Given the description of an element on the screen output the (x, y) to click on. 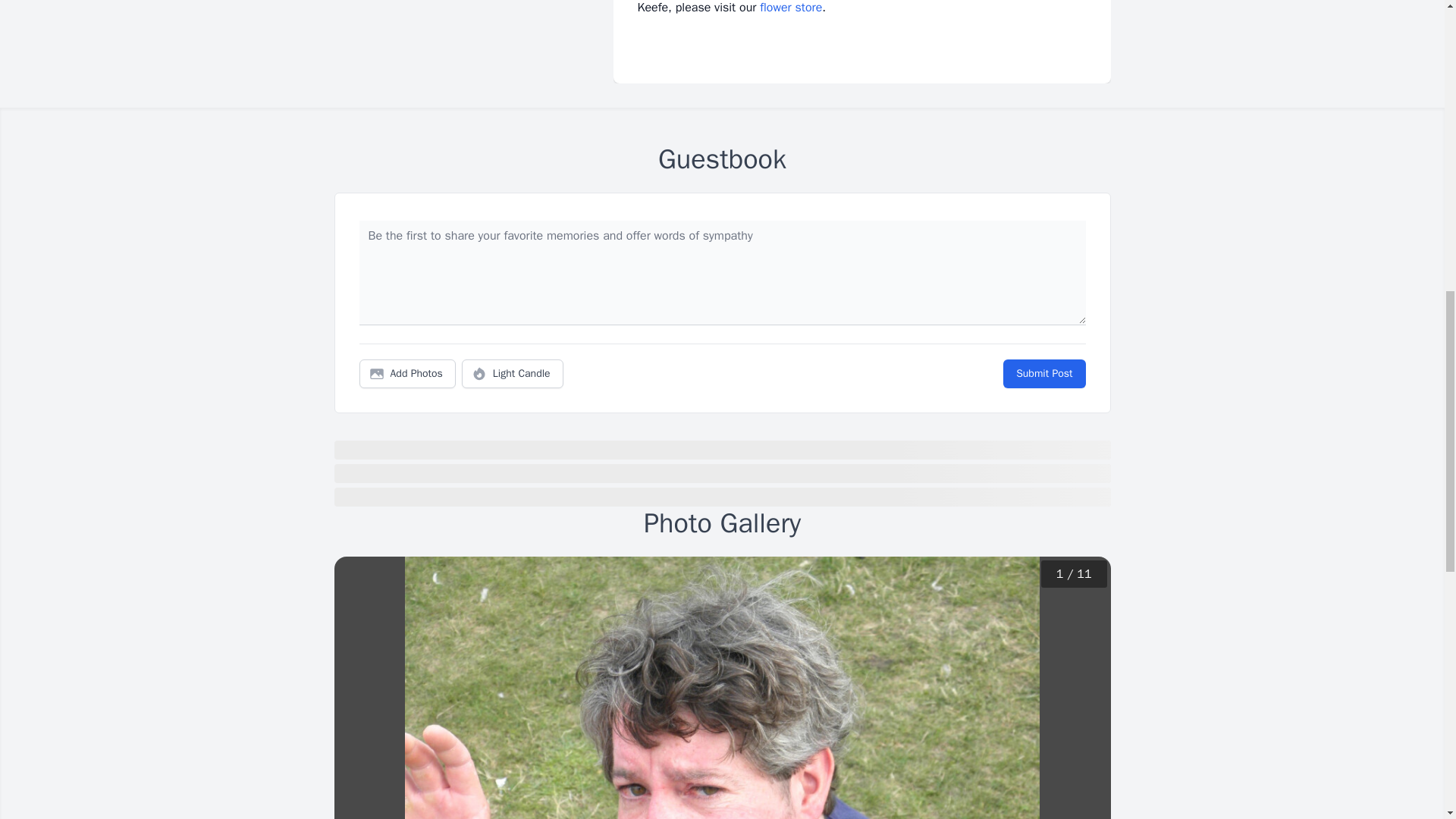
Add Photos (407, 373)
Submit Post (1043, 373)
flower store (791, 7)
Light Candle (512, 373)
